Given the description of an element on the screen output the (x, y) to click on. 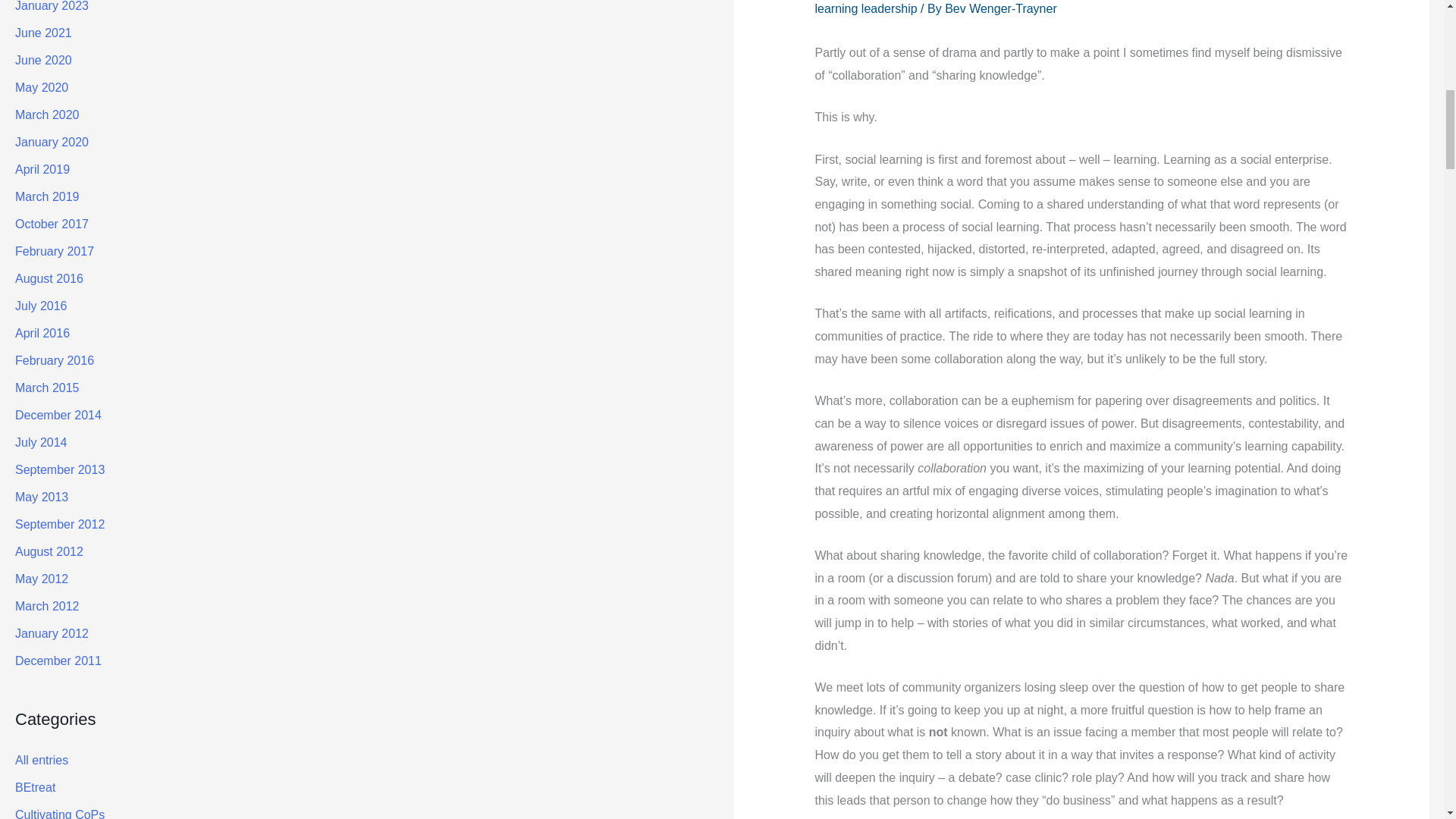
View all posts by Bev Wenger-Trayner (1000, 8)
